Given the description of an element on the screen output the (x, y) to click on. 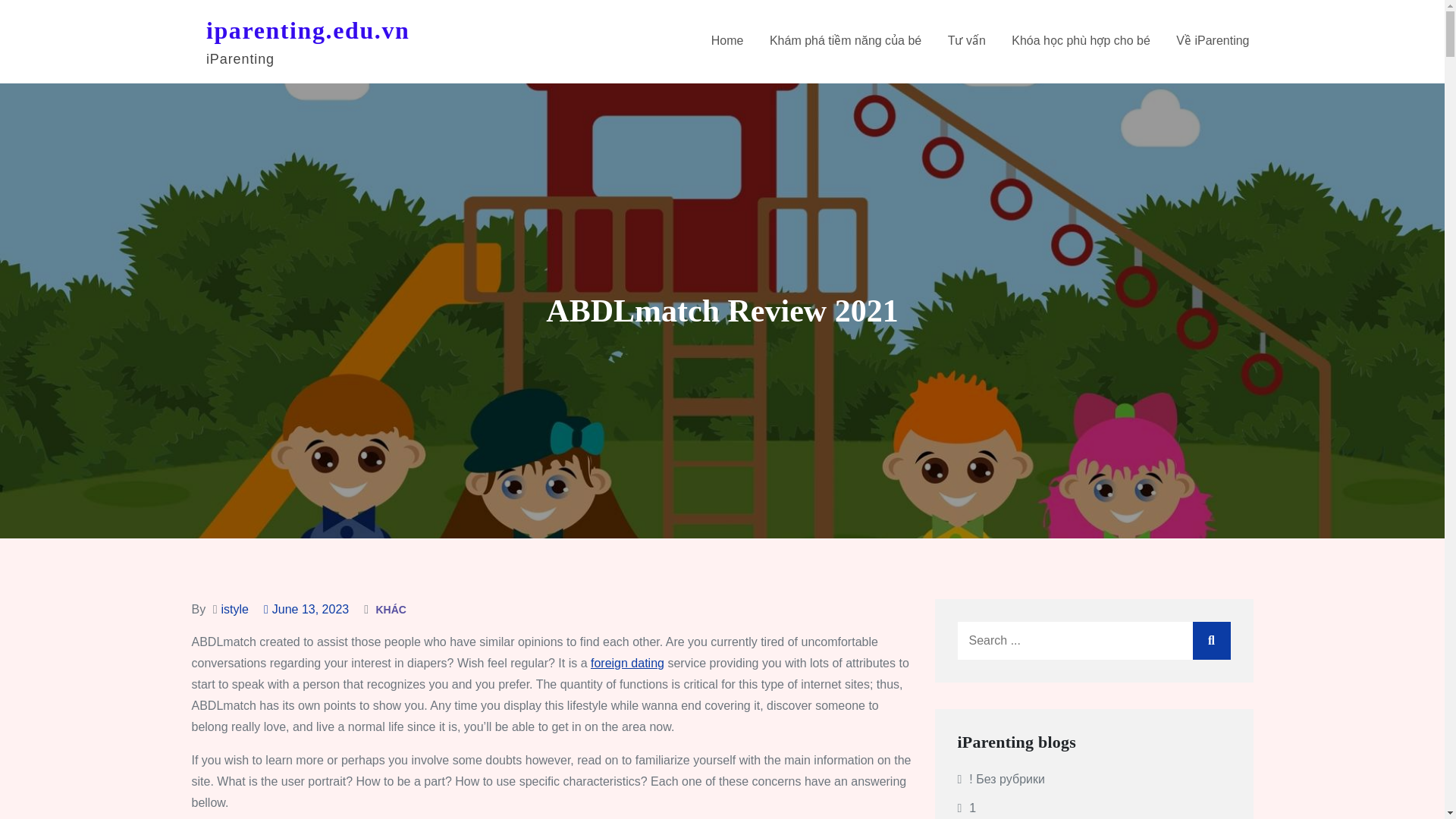
June 13, 2023 (306, 608)
istyle (234, 608)
Search (1211, 640)
Search for: (1093, 640)
Home (727, 40)
iparenting.edu.vn (307, 30)
foreign dating (627, 662)
